Given the description of an element on the screen output the (x, y) to click on. 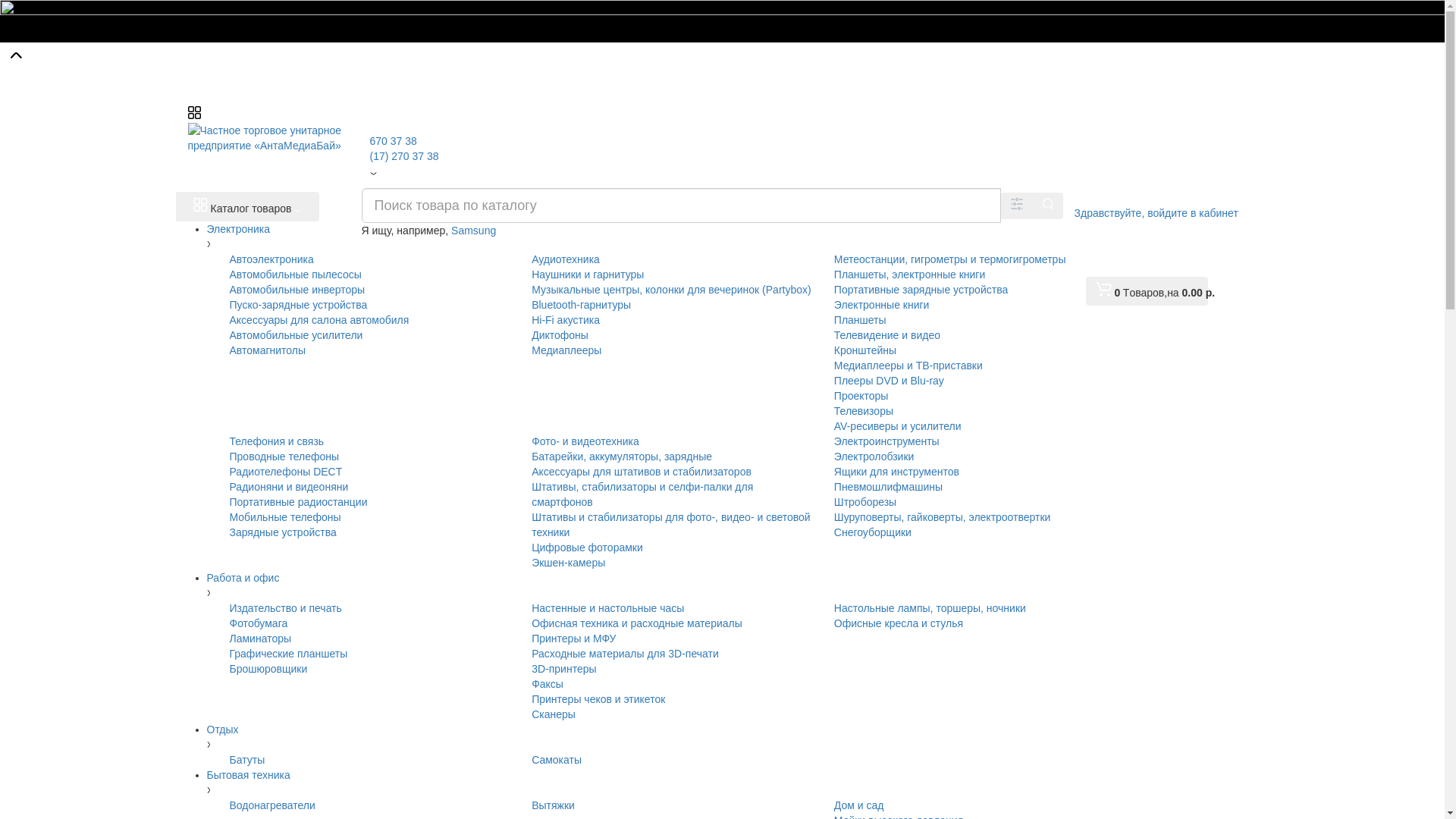
670 37 38 Element type: text (393, 140)
(17) 270 37 38 Element type: text (404, 156)
Samsung Element type: text (473, 230)
